Given the description of an element on the screen output the (x, y) to click on. 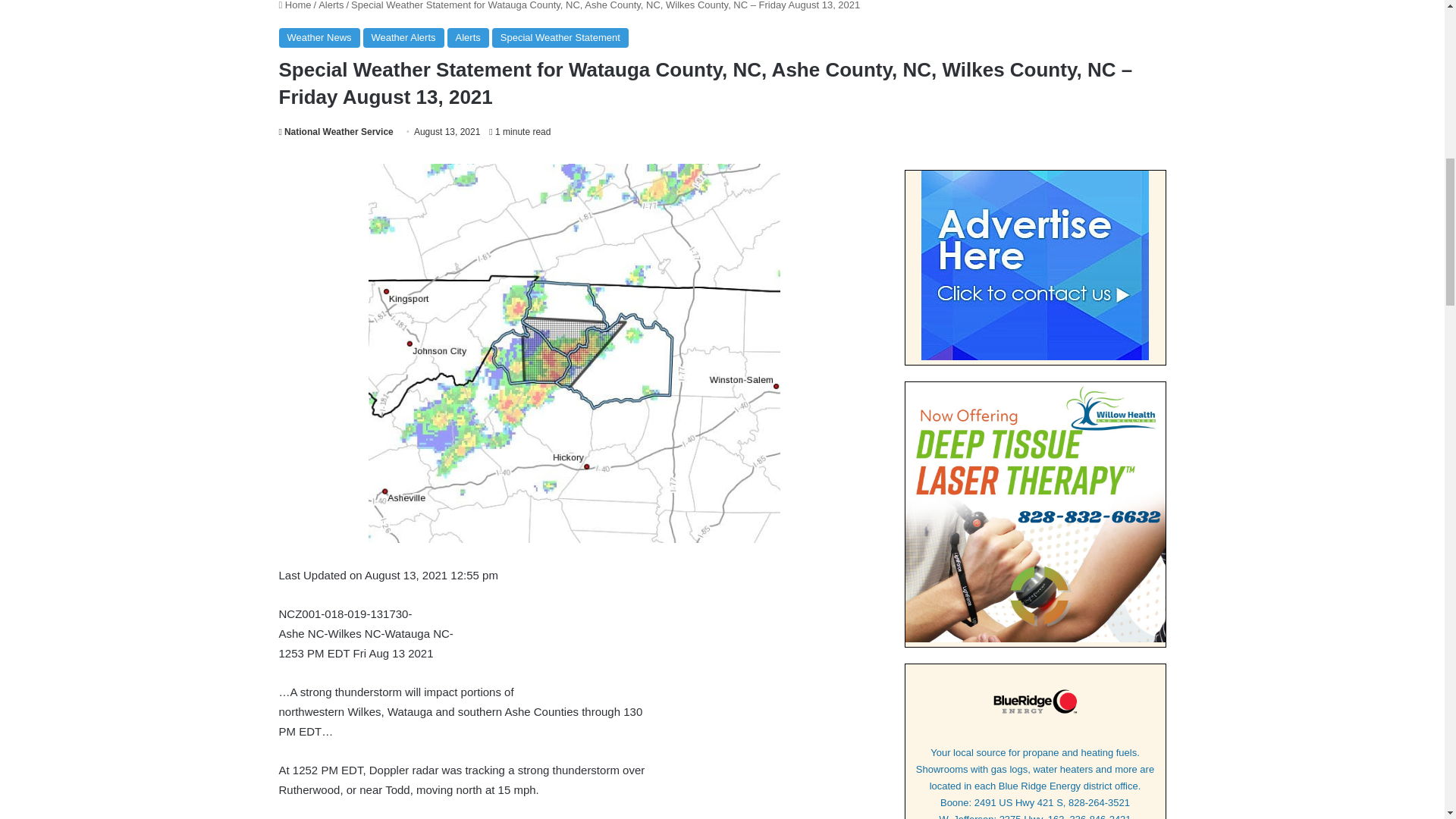
National Weather Service (336, 131)
